Given the description of an element on the screen output the (x, y) to click on. 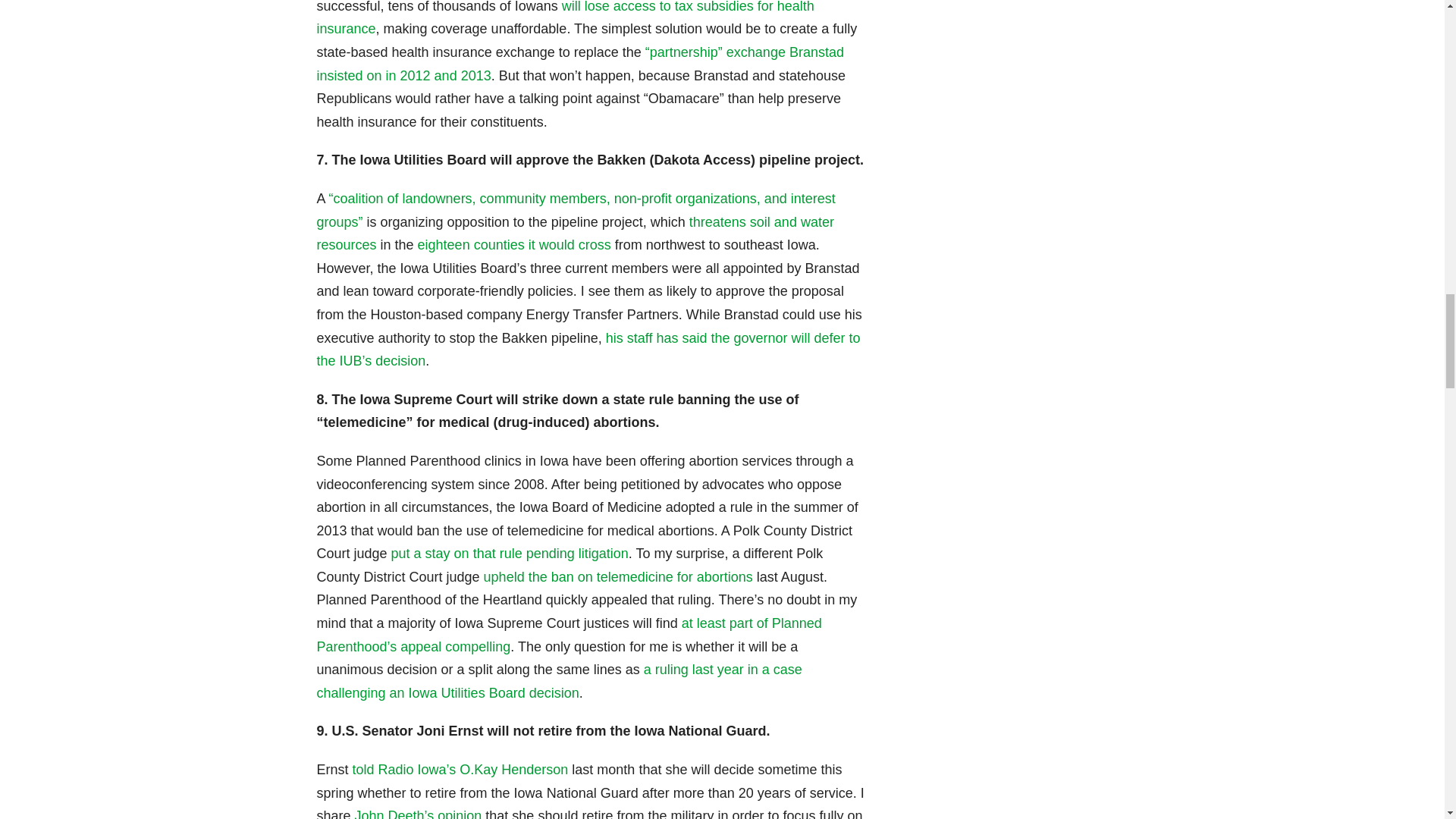
will lose access to tax subsidies for health insurance (565, 18)
eighteen counties it would cross (514, 244)
put a stay on that rule pending litigation (509, 553)
threatens soil and water resources (575, 233)
